Given the description of an element on the screen output the (x, y) to click on. 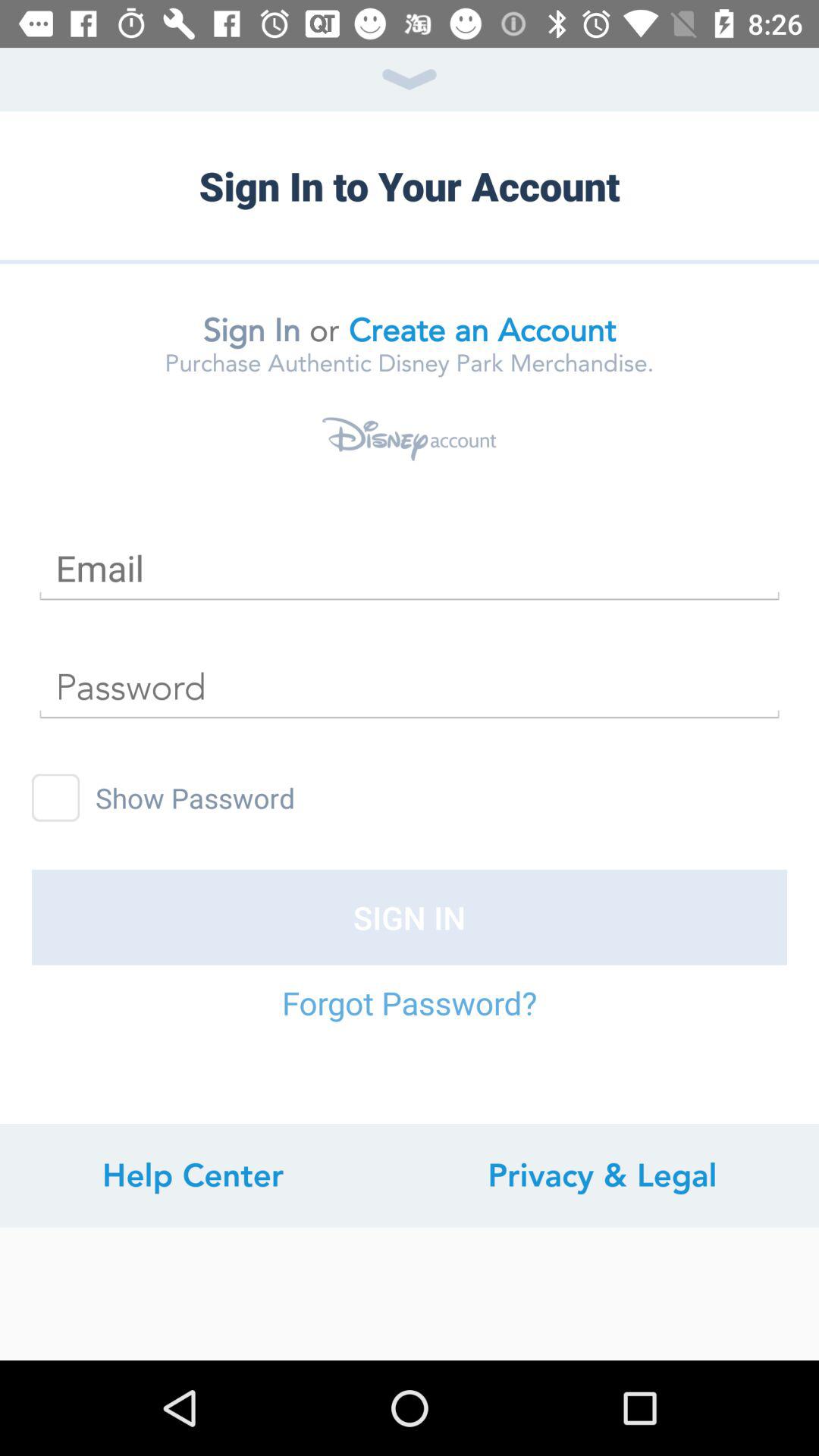
jump until the help center item (192, 1175)
